Given the description of an element on the screen output the (x, y) to click on. 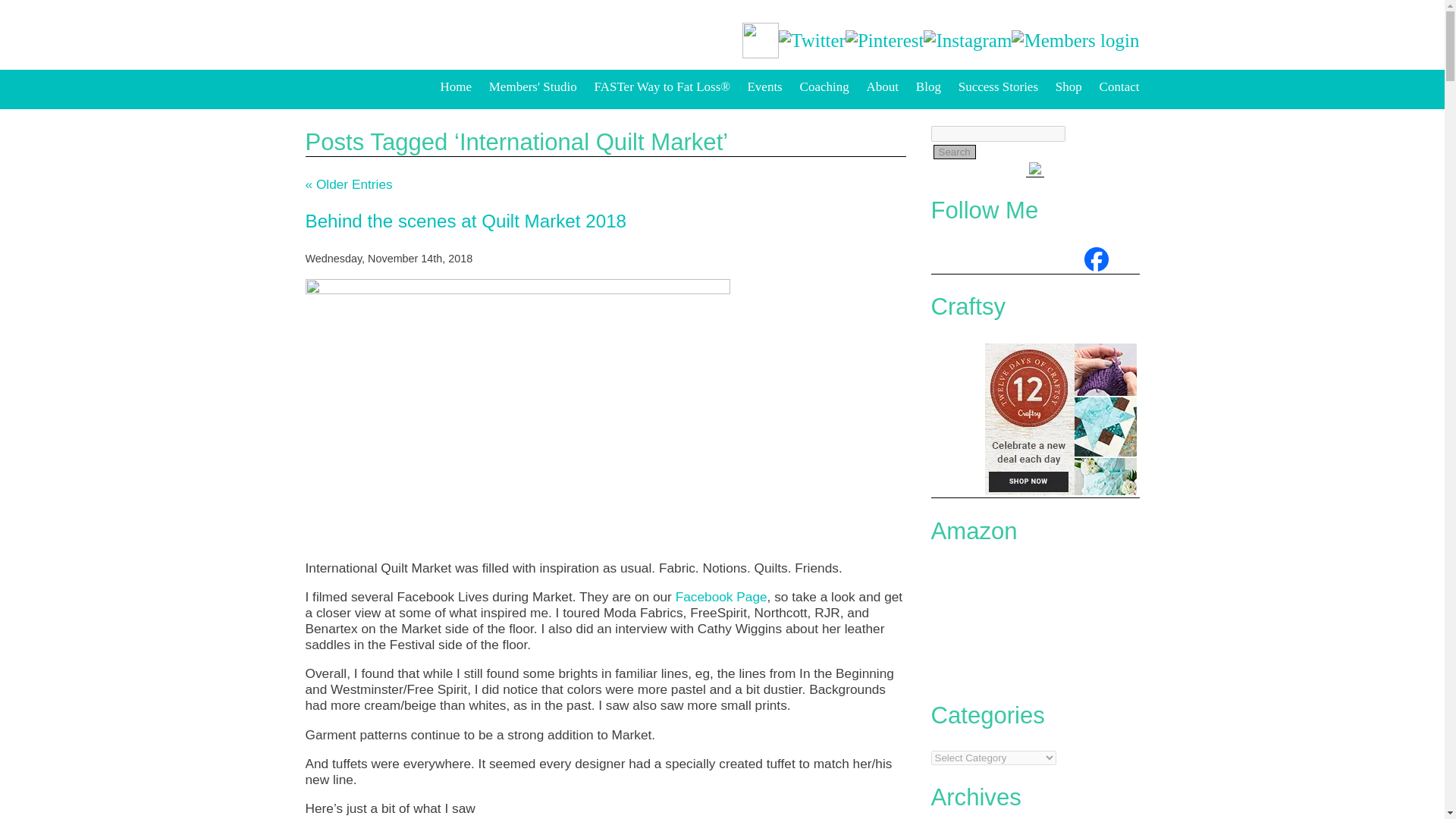
Search (954, 151)
Events (763, 86)
Search (954, 151)
Success Stories (998, 86)
Contact Us (1119, 86)
About the IAQP (882, 86)
Members' Studio (532, 86)
Coaching (823, 86)
Contact (1119, 86)
